Given the description of an element on the screen output the (x, y) to click on. 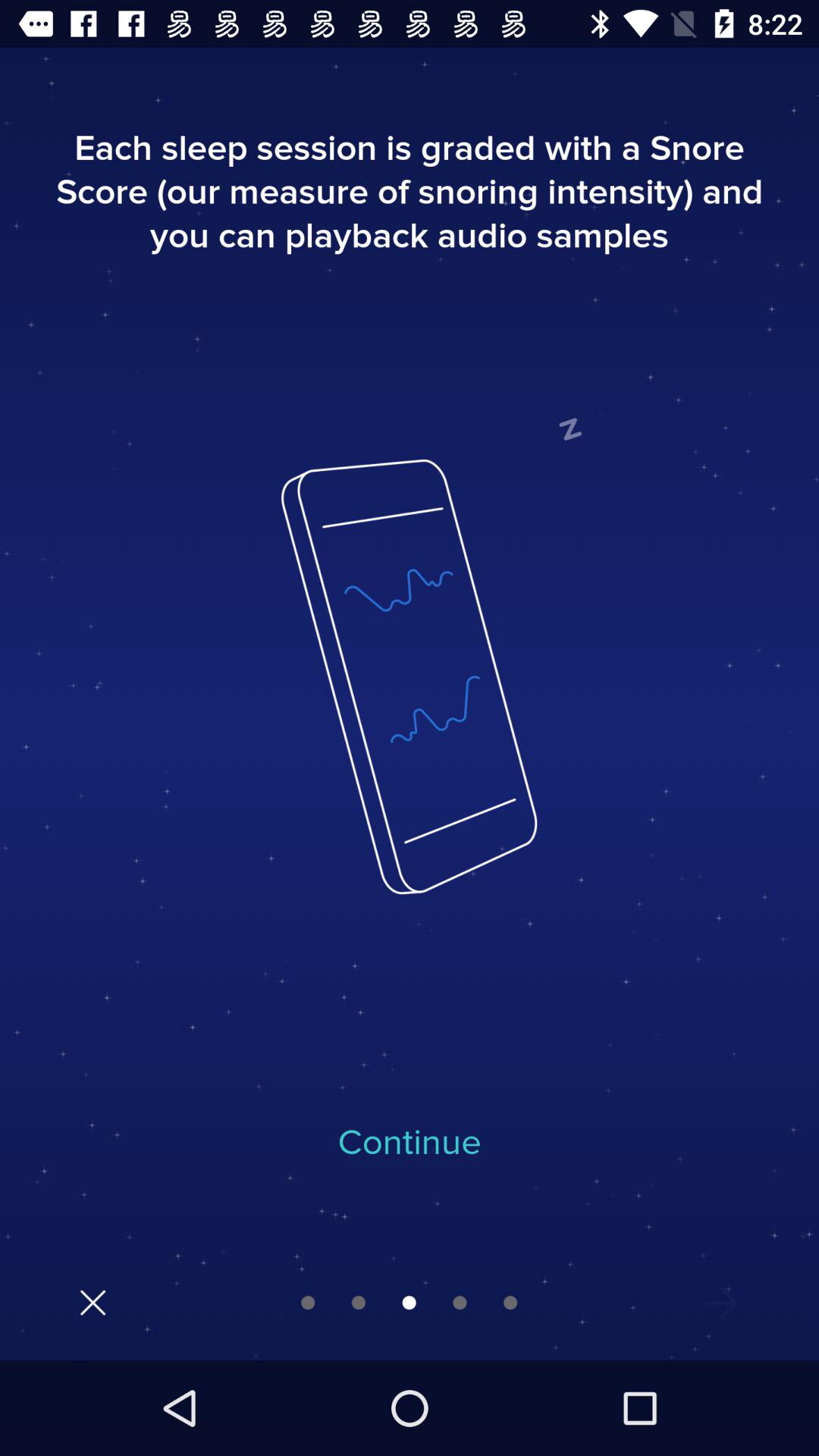
tap the continue button (409, 1142)
